Given the description of an element on the screen output the (x, y) to click on. 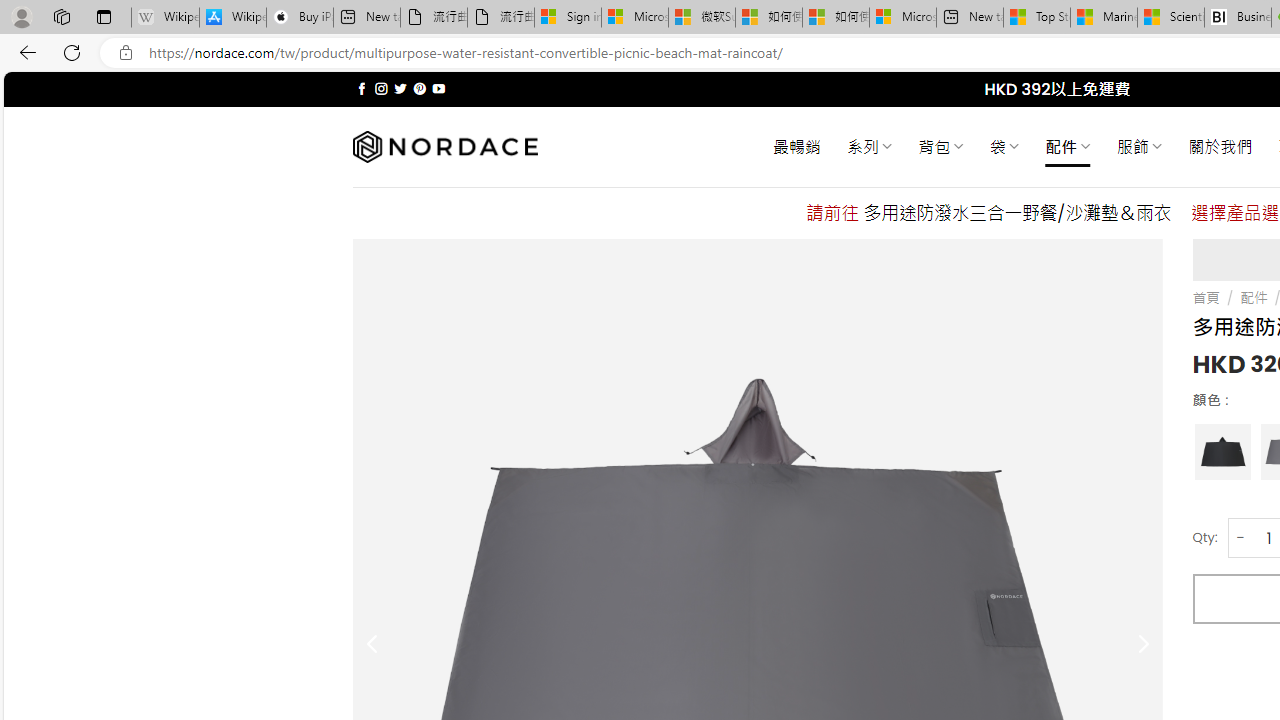
Microsoft account | Account Checkup (902, 17)
Follow on Twitter (400, 88)
- (1240, 537)
Follow on YouTube (438, 88)
